Given the description of an element on the screen output the (x, y) to click on. 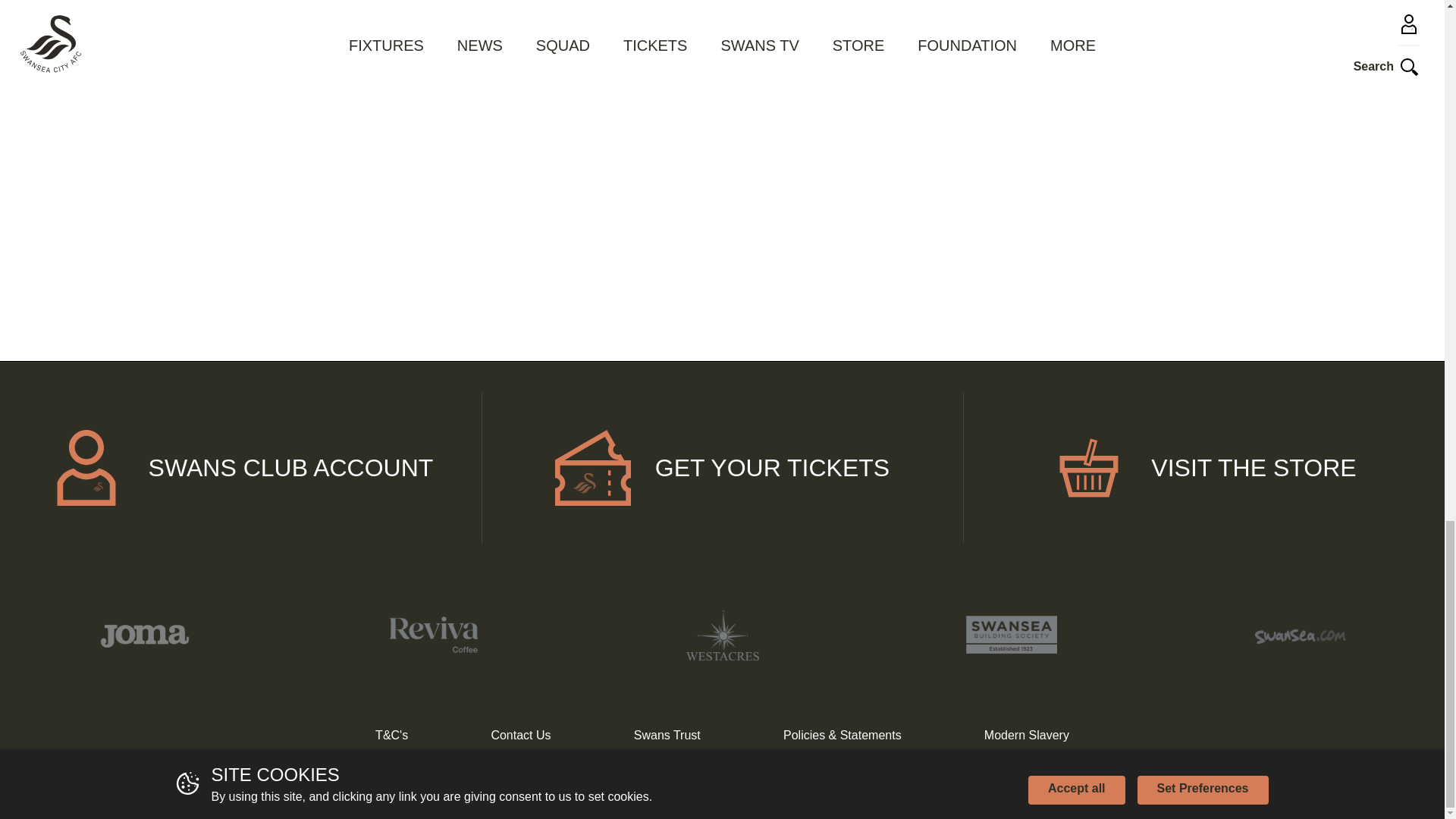
Swansea sponsor (1299, 634)
3rd party ad content (721, 36)
3rd party ad content (357, 36)
Swansea sponsor (144, 634)
3rd party ad content (721, 191)
Sign up or log into Swans Club Account (240, 467)
3rd party ad content (1085, 191)
3rd party ad content (1085, 36)
Swansea sponsor (432, 634)
3rd party ad content (357, 191)
